Given the description of an element on the screen output the (x, y) to click on. 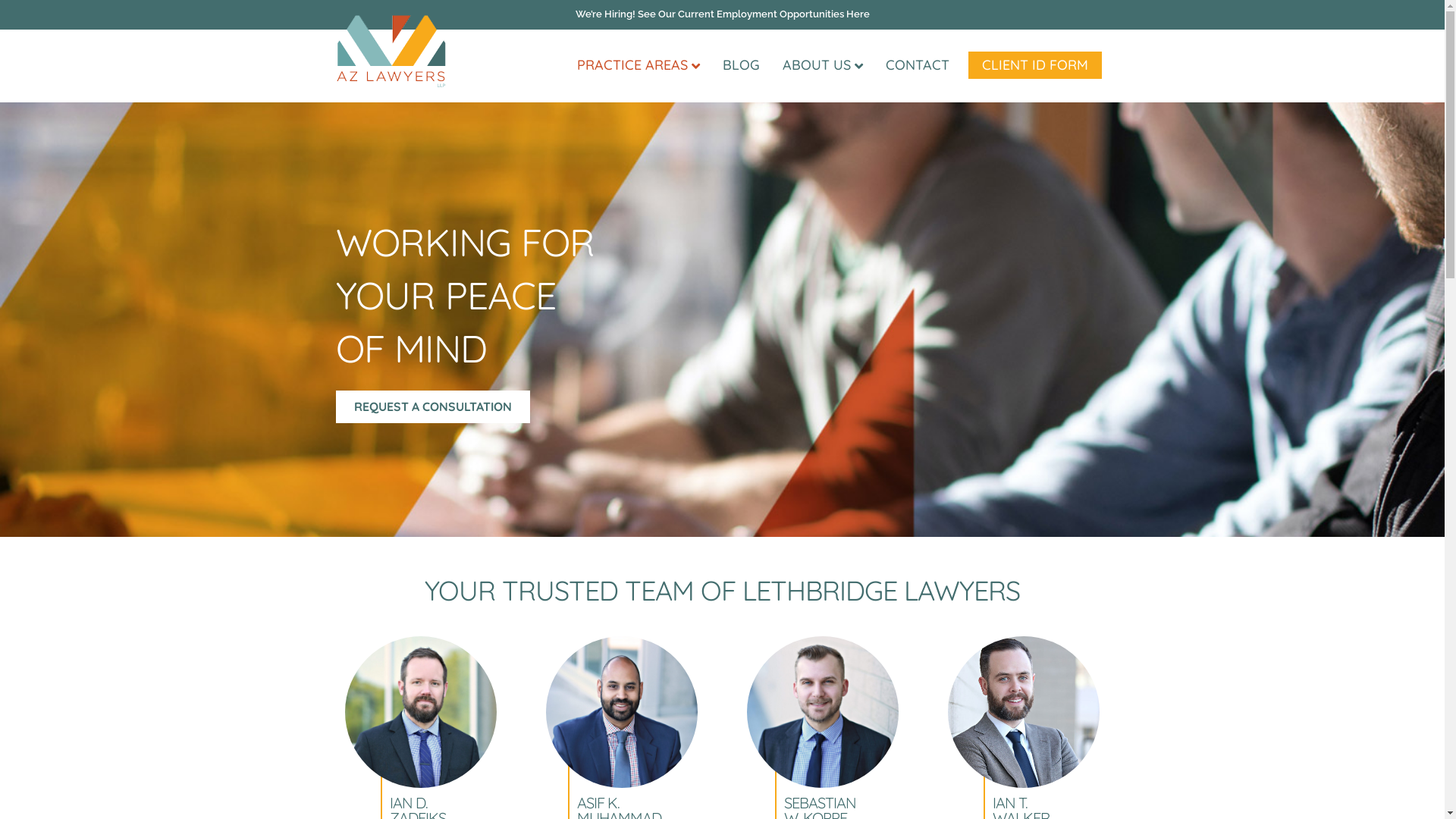
CLIENT ID FORM Element type: text (1034, 64)
CONTACT Element type: text (916, 64)
ian-zadeiks-lawyer-warm-scaled Element type: hover (420, 711)
REQUEST A CONSULTATION Element type: text (432, 406)
BLOG Element type: text (741, 64)
ABOUT US Element type: text (821, 65)
PRACTICE AREAS Element type: text (638, 65)
